Given the description of an element on the screen output the (x, y) to click on. 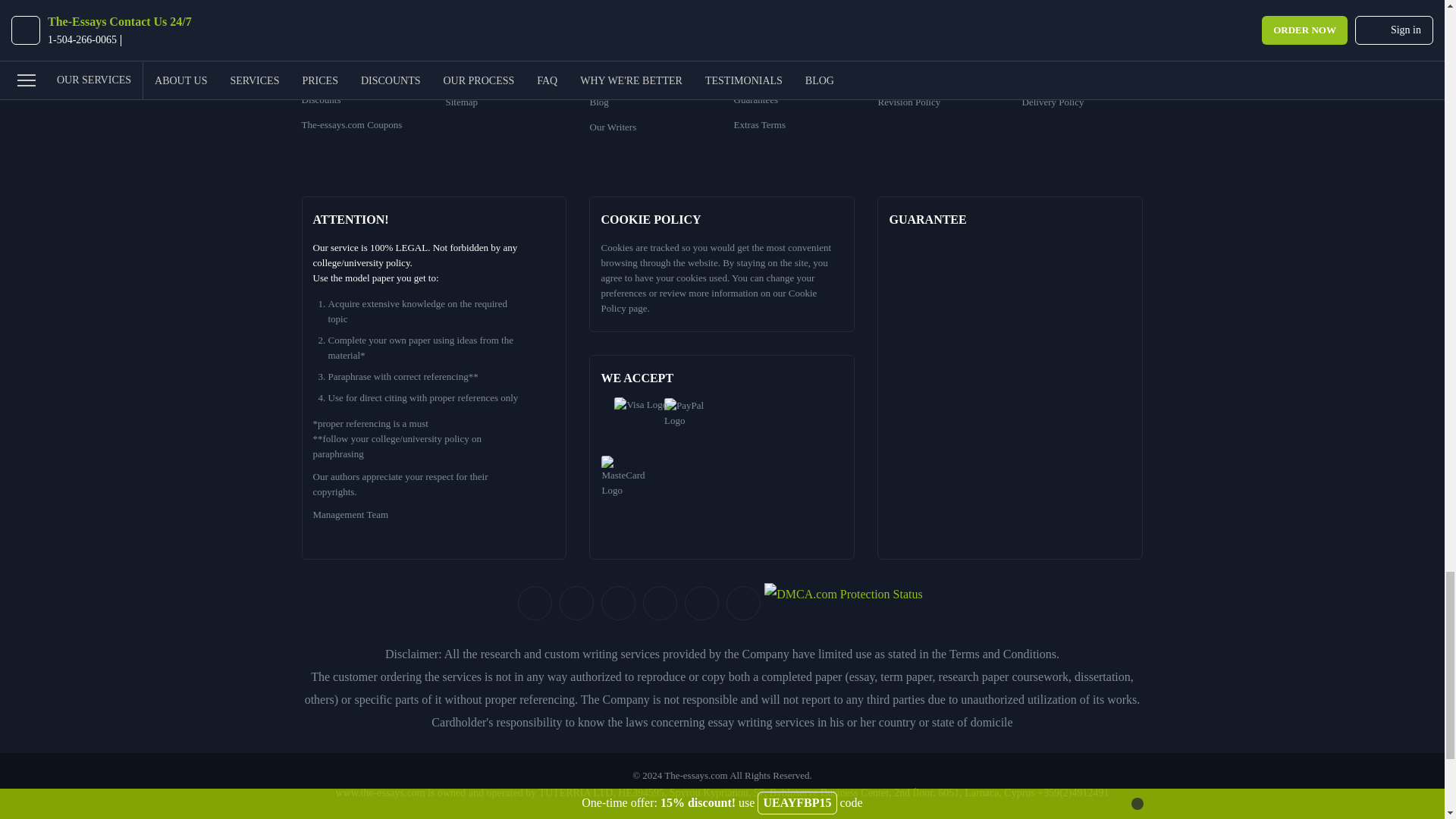
DMCA.com Protection Status (842, 603)
